Given the description of an element on the screen output the (x, y) to click on. 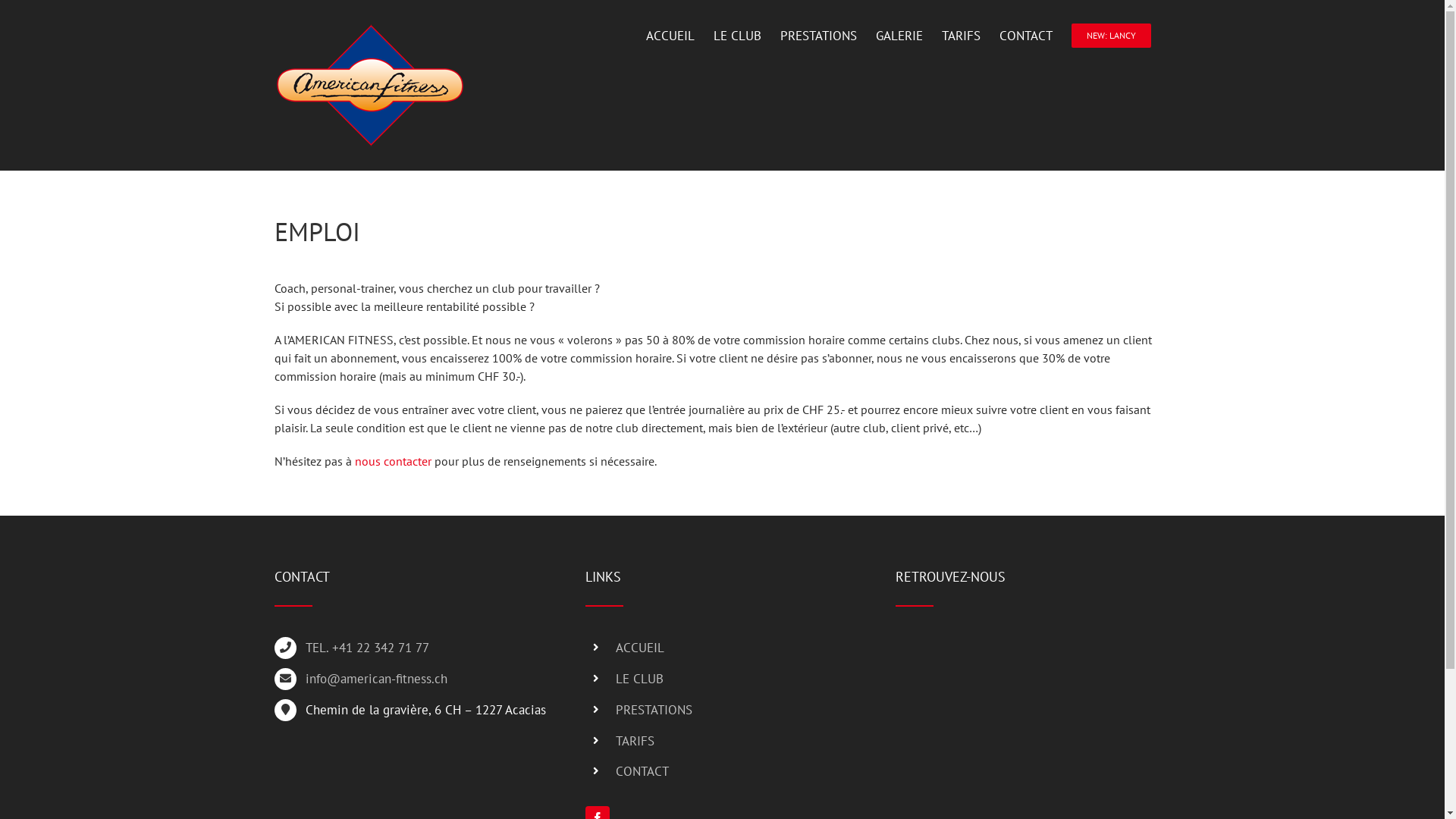
LE CLUB Element type: text (737, 679)
TARIFS Element type: text (960, 35)
info@american-fitness.ch Element type: text (427, 679)
PRESTATIONS Element type: text (737, 710)
TEL. +41 22 342 71 77 Element type: text (427, 647)
TARIFS Element type: text (737, 741)
CONTACT Element type: text (737, 771)
ACCUEIL Element type: text (737, 647)
GALERIE Element type: text (898, 35)
nous contacter Element type: text (392, 460)
CONTACT Element type: text (1025, 35)
ACCUEIL Element type: text (670, 35)
PRESTATIONS Element type: text (817, 35)
NEW: LANCY Element type: text (1110, 35)
LE CLUB Element type: text (736, 35)
